Given the description of an element on the screen output the (x, y) to click on. 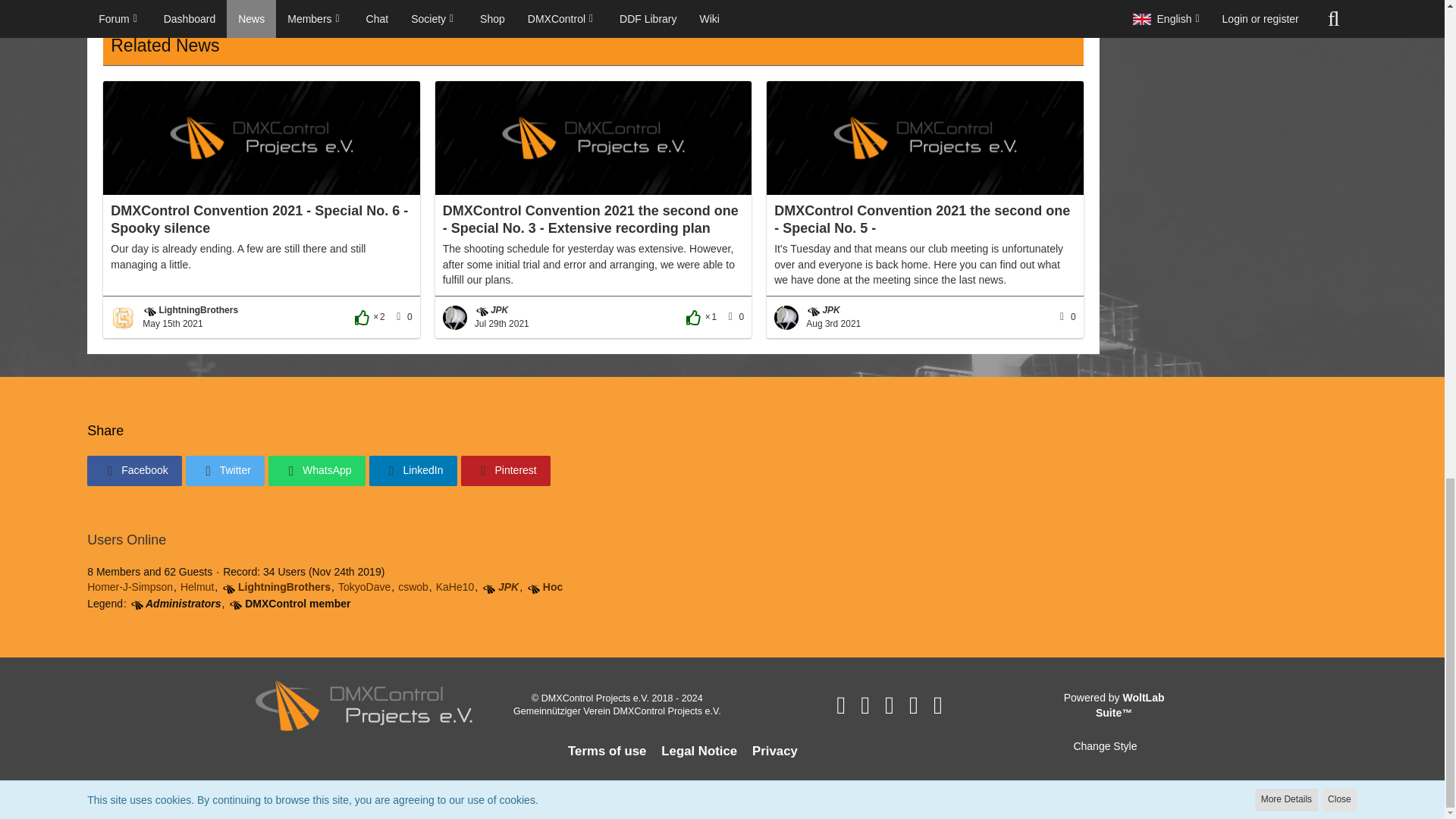
WhatsApp (316, 470)
Pinterest (505, 470)
Facebook (133, 470)
LinkedIn (413, 470)
Twitter (225, 470)
